Given the description of an element on the screen output the (x, y) to click on. 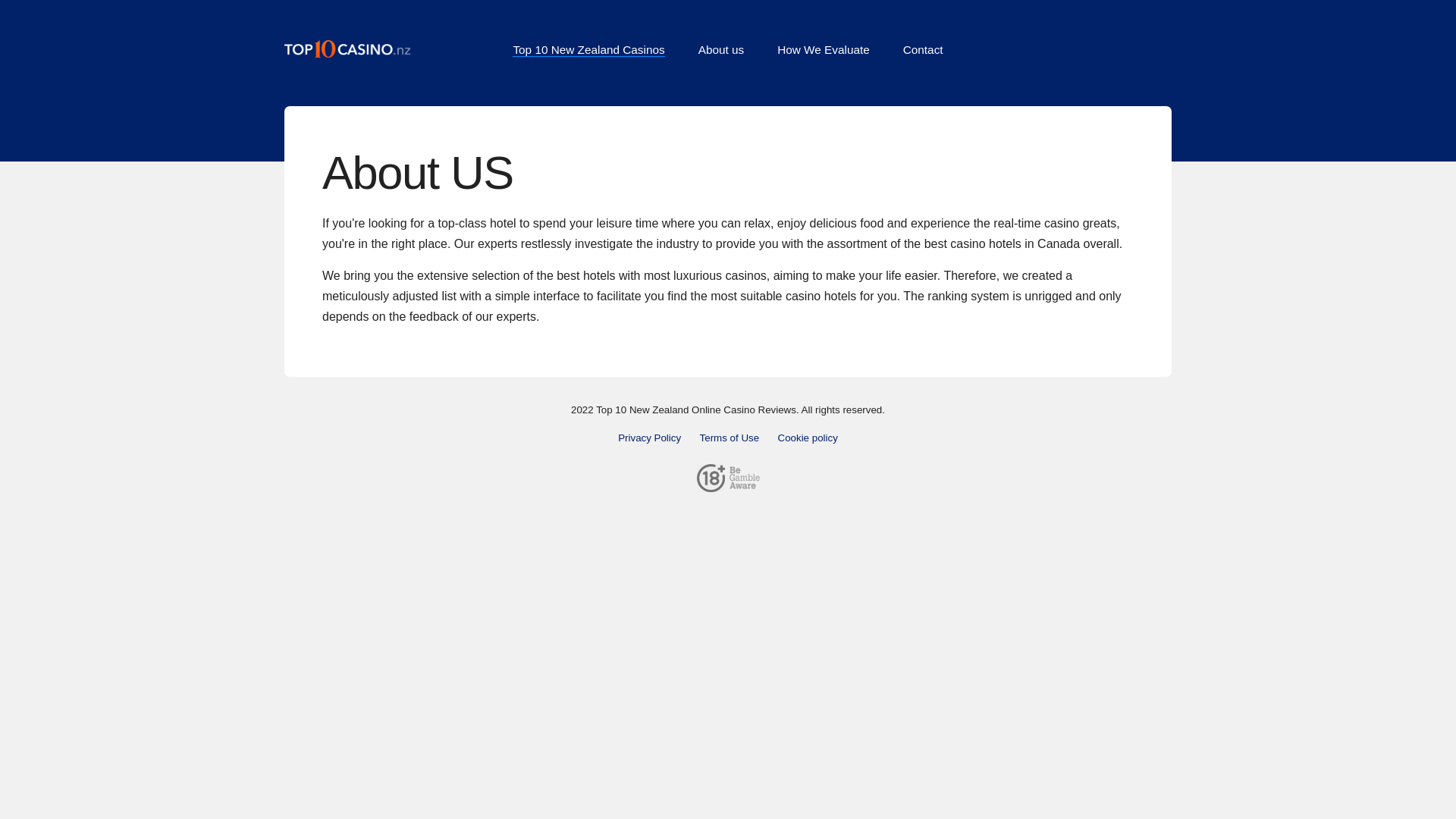
About us (721, 50)
How We Evaluate (823, 50)
Contact (922, 50)
Privacy Policy (649, 438)
Top 10 New Zealand Casinos (587, 50)
Cookie policy (807, 438)
Terms of Use (730, 438)
